Given the description of an element on the screen output the (x, y) to click on. 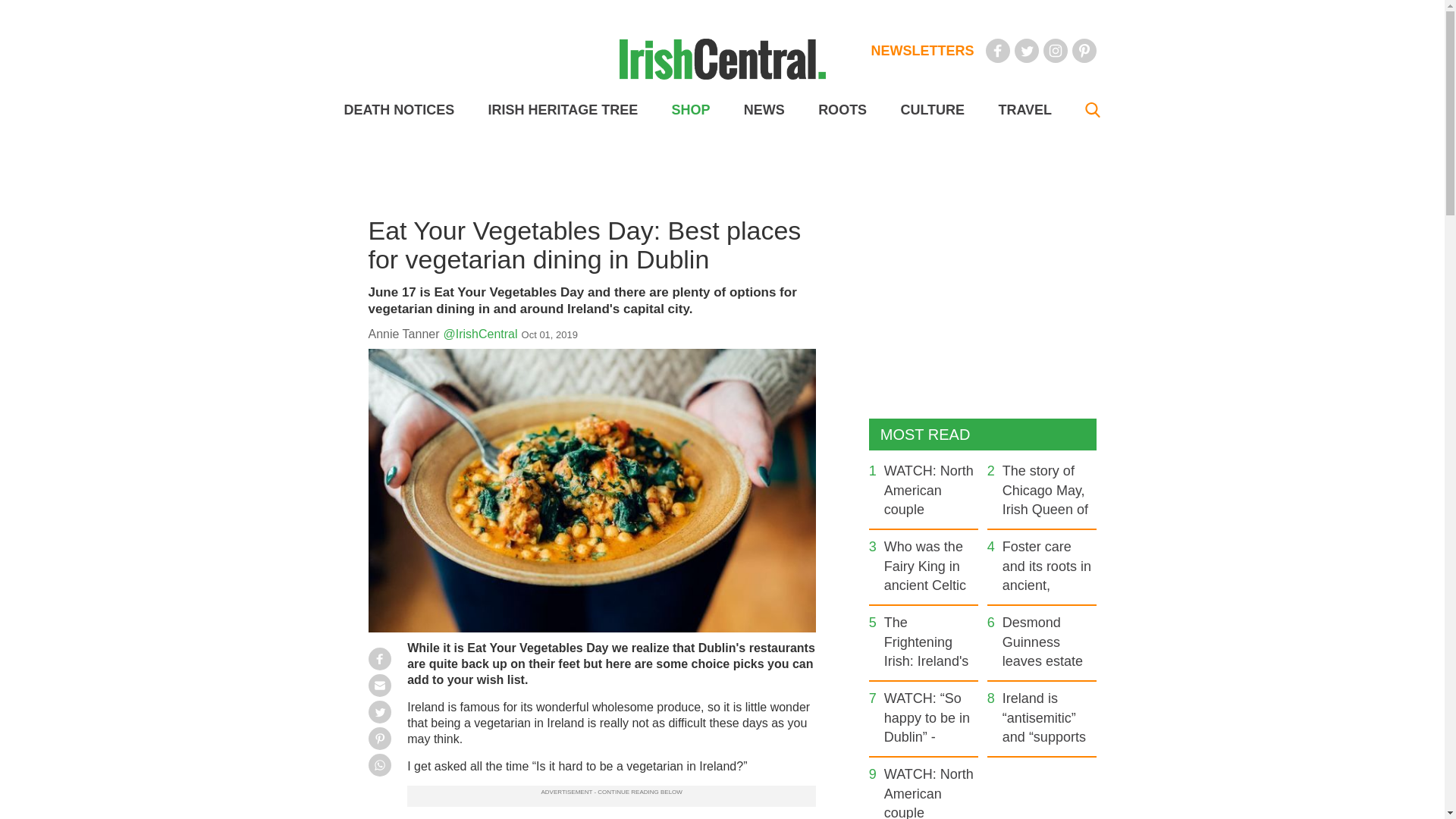
ROOTS (842, 109)
DEATH NOTICES (398, 109)
NEWSLETTERS (922, 50)
SHOP (690, 109)
NEWS (764, 109)
CULTURE (931, 109)
IRISH HERITAGE TREE (562, 109)
TRAVEL (1024, 109)
